Given the description of an element on the screen output the (x, y) to click on. 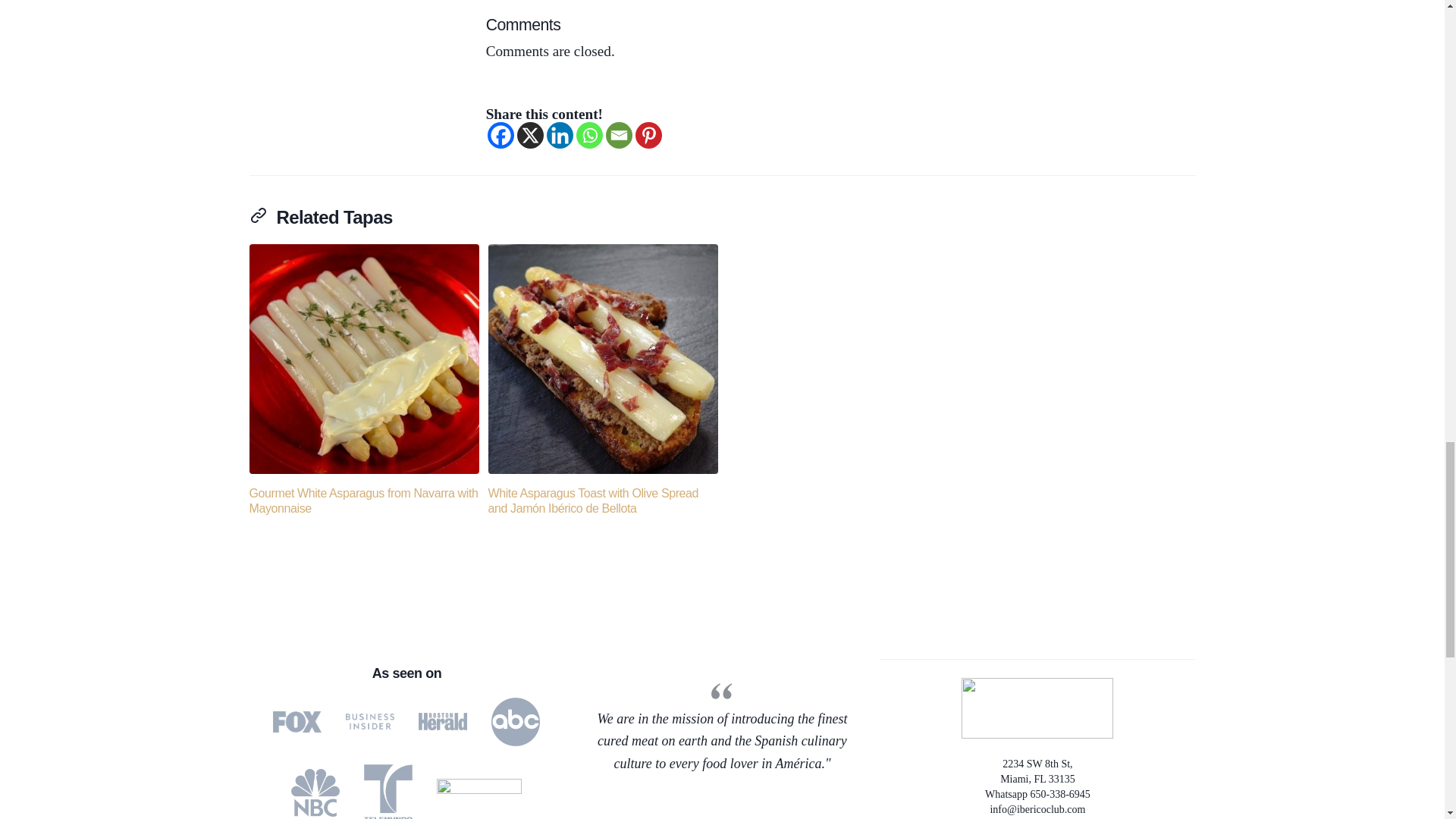
Feature image (363, 359)
Pinterest (648, 135)
Whatsapp (589, 135)
Feature image (602, 359)
X (529, 135)
Linkedin (560, 135)
Email (618, 135)
Facebook (500, 135)
